Given the description of an element on the screen output the (x, y) to click on. 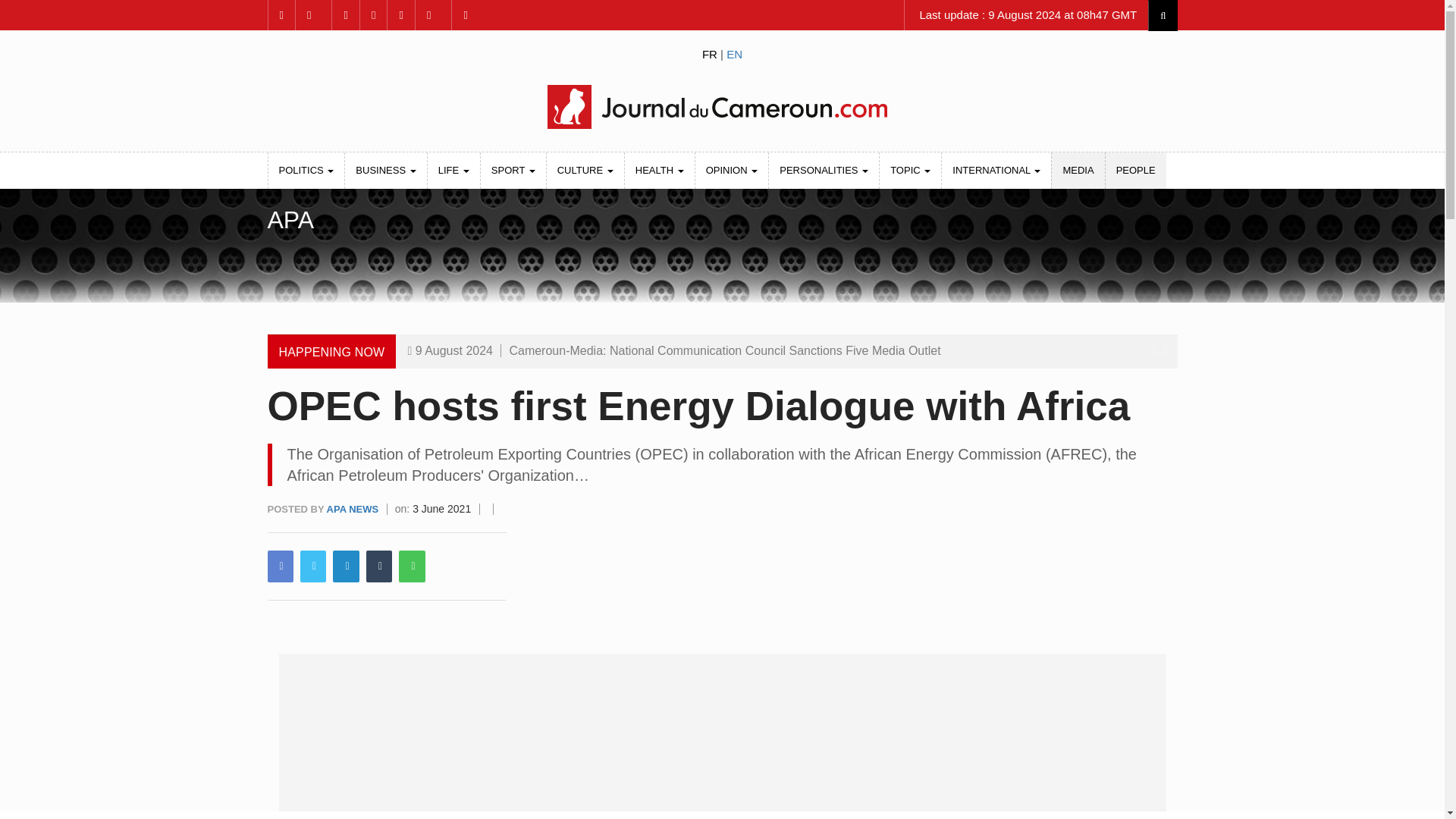
BUSINESS (385, 170)
JDC (721, 106)
EN (734, 53)
FR (709, 53)
POLITICS (306, 170)
Last update : 9 August 2024 at 08h47 GMT (1026, 15)
